Given the description of an element on the screen output the (x, y) to click on. 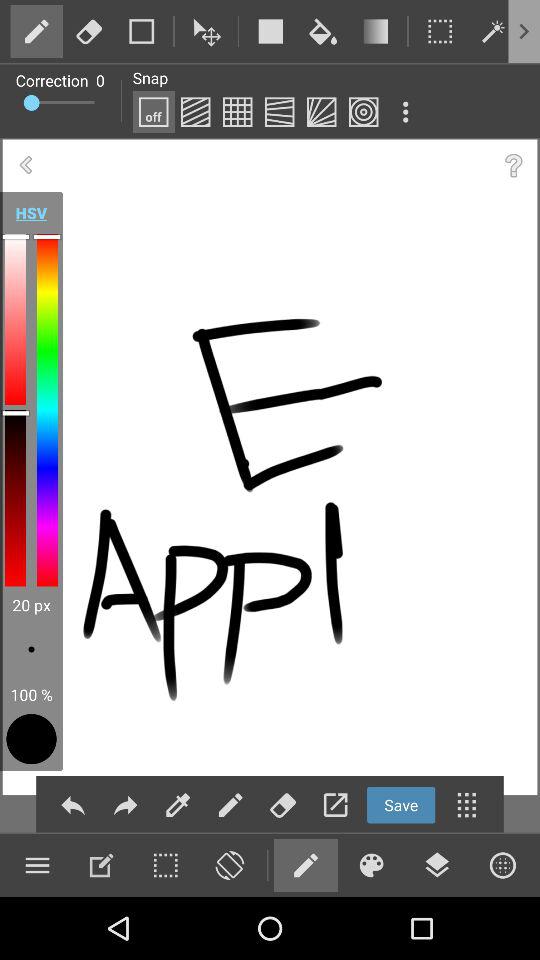
navigation (335, 804)
